Given the description of an element on the screen output the (x, y) to click on. 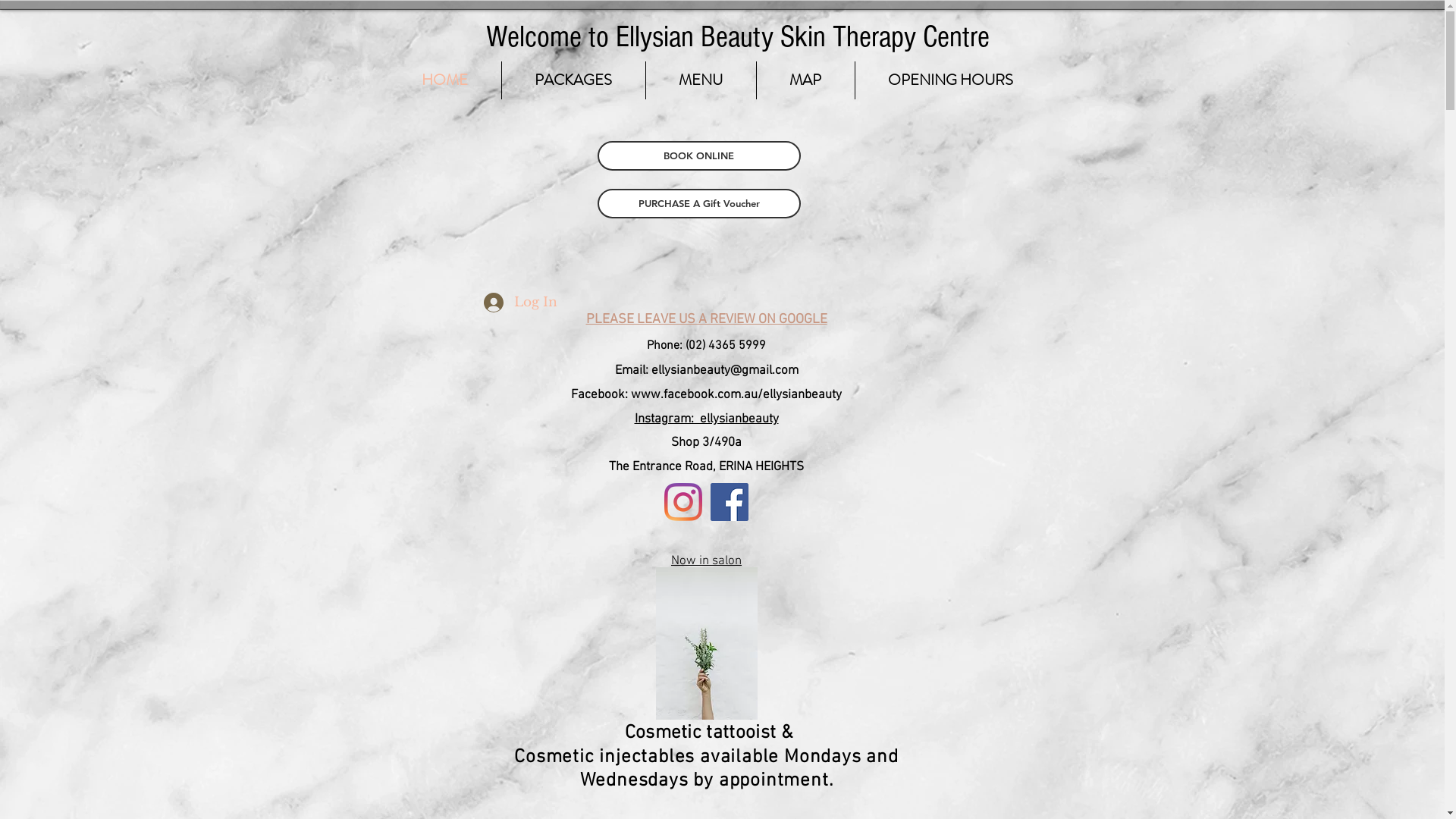
Log In Element type: text (504, 302)
PACKAGES Element type: text (573, 80)
www.facebook.com.au/ellysianbeauty Element type: text (735, 394)
BOOK ONLINE Element type: text (698, 155)
Image by NordWood Themes Element type: hover (705, 643)
MENU Element type: text (701, 80)
MAP Element type: text (805, 80)
ellysianbeauty@gmail.com Element type: text (723, 370)
PURCHASE A Gift Voucher Element type: text (698, 203)
OPENING HOURS Element type: text (950, 80)
HOME Element type: text (444, 80)
